Given the description of an element on the screen output the (x, y) to click on. 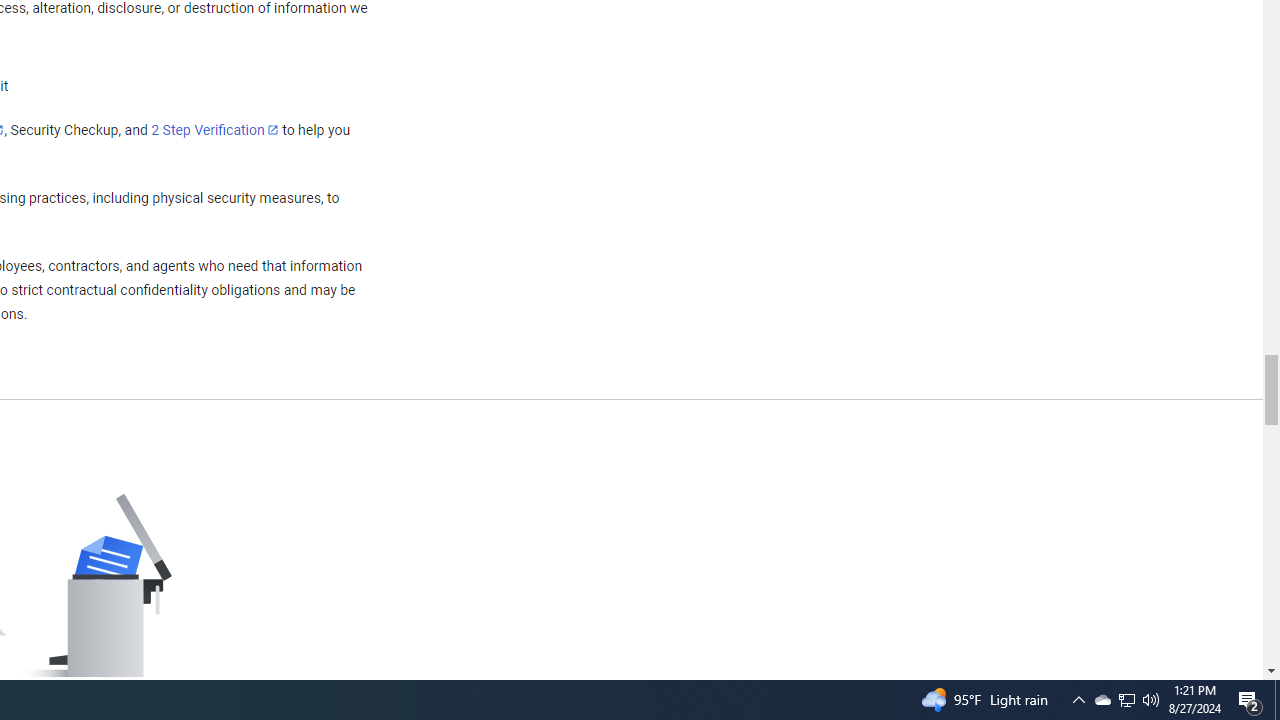
2 Step Verification (215, 129)
